Given the description of an element on the screen output the (x, y) to click on. 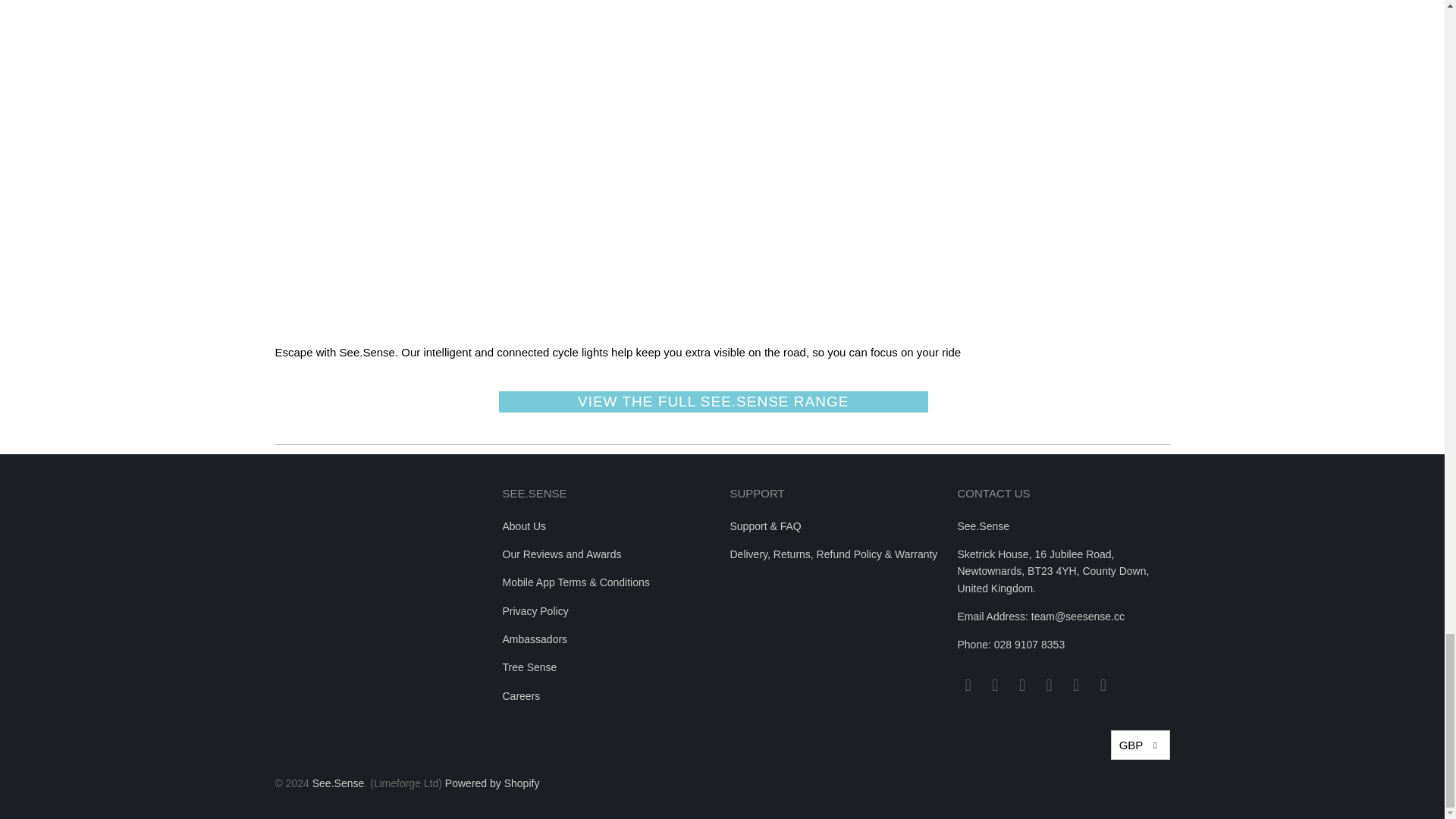
See.Sense on Instagram (1022, 685)
See.Sense on YouTube (1103, 685)
See.Sense on Facebook (995, 685)
See.Sense on Twitter (1076, 685)
See.Sense on LinkedIn (1049, 685)
Email See.Sense (967, 685)
